Given the description of an element on the screen output the (x, y) to click on. 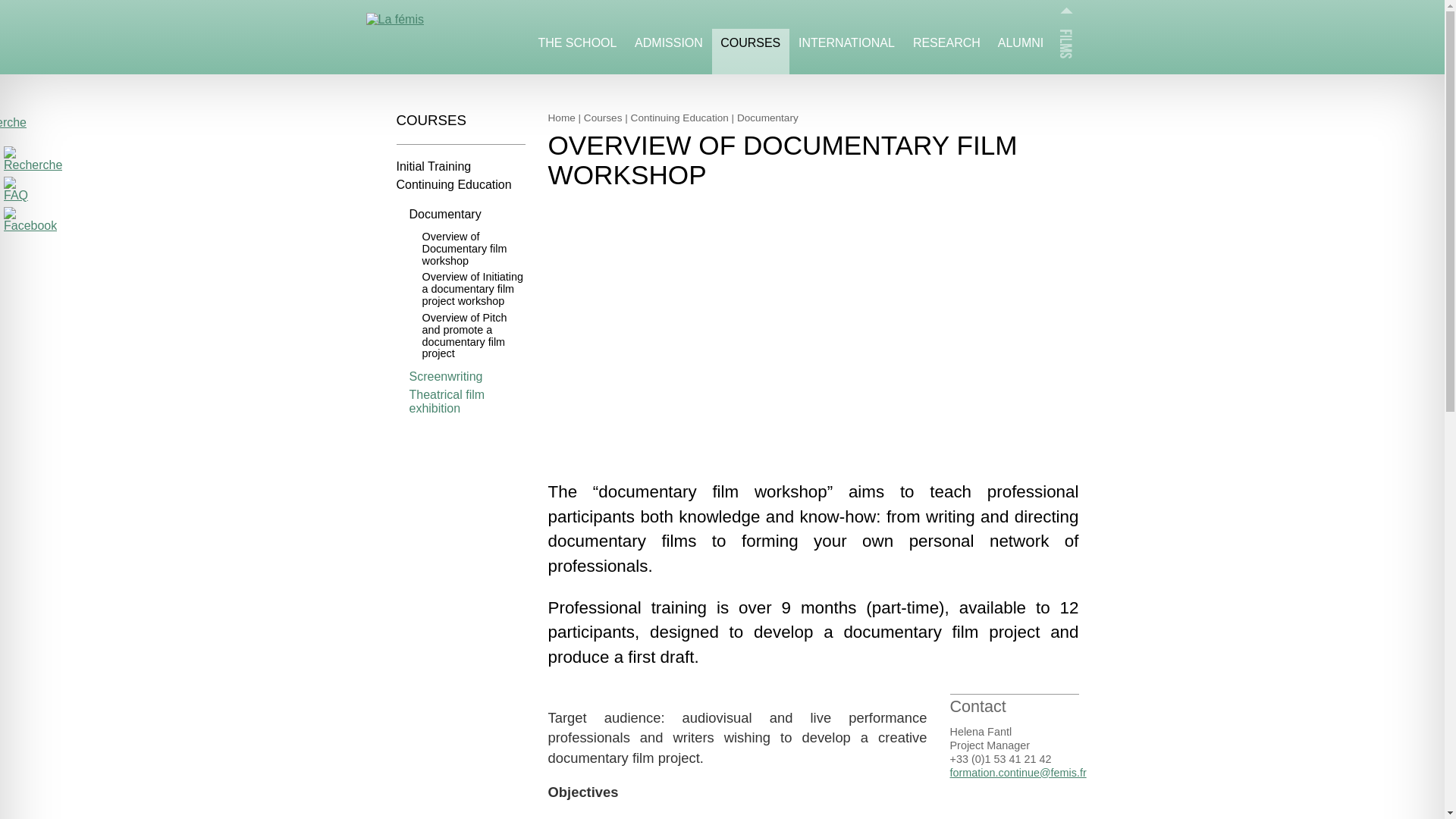
INTERNATIONAL (846, 51)
THE SCHOOL (577, 51)
COURSES (750, 51)
ADMISSION (668, 51)
ALUMNI (1019, 51)
RESEARCH (946, 51)
